Given the description of an element on the screen output the (x, y) to click on. 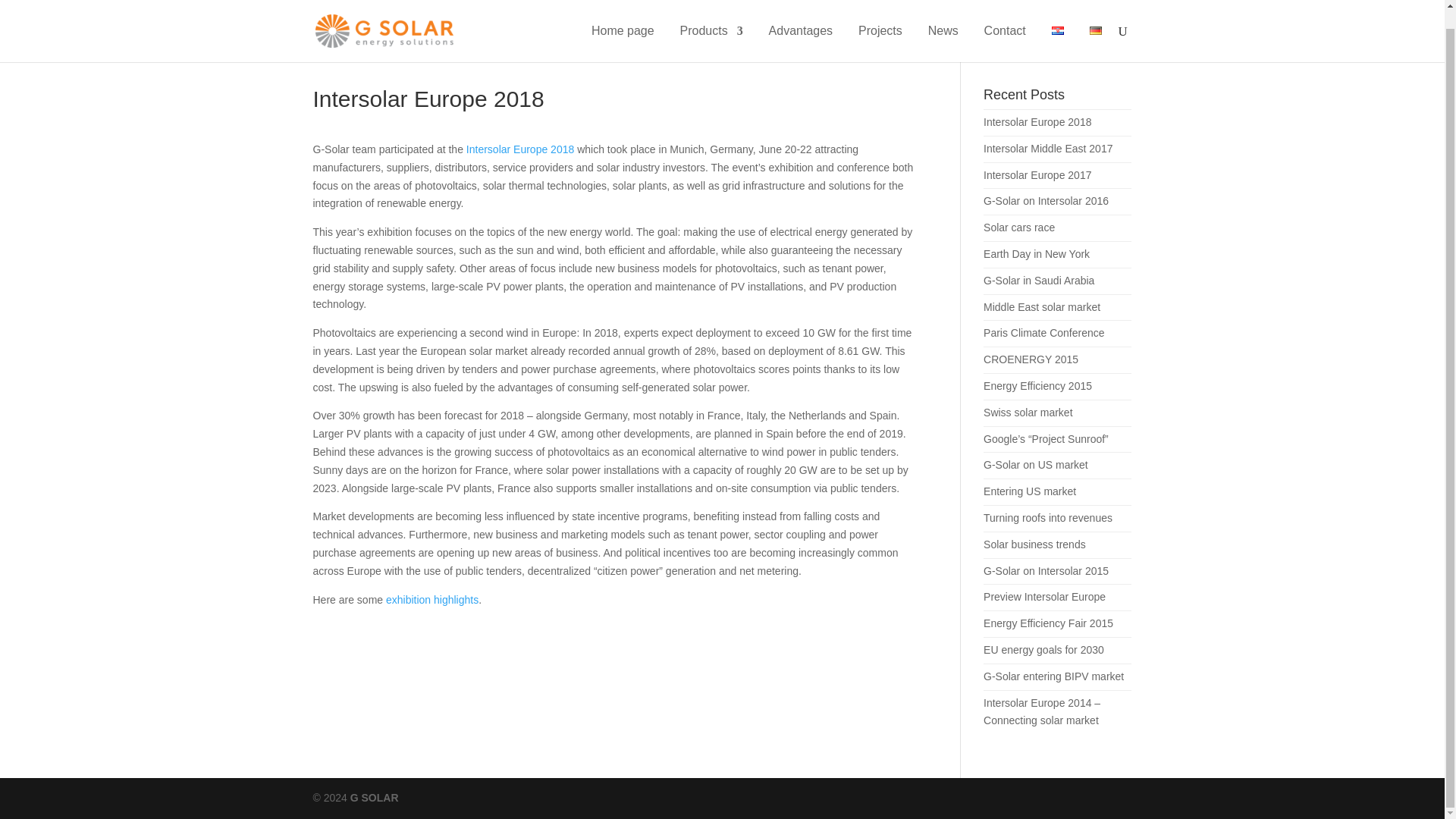
Intersolar Europe 2018 (519, 149)
exhibition highlights (432, 599)
G-Solar on Intersolar 2016 (1046, 200)
Deutsch (1094, 12)
Projects (880, 25)
Intersolar Europe 2018 (1037, 121)
Home page (622, 25)
Solar cars race (1019, 227)
Products (710, 25)
Intersolar Europe 2017 (1037, 174)
